Given the description of an element on the screen output the (x, y) to click on. 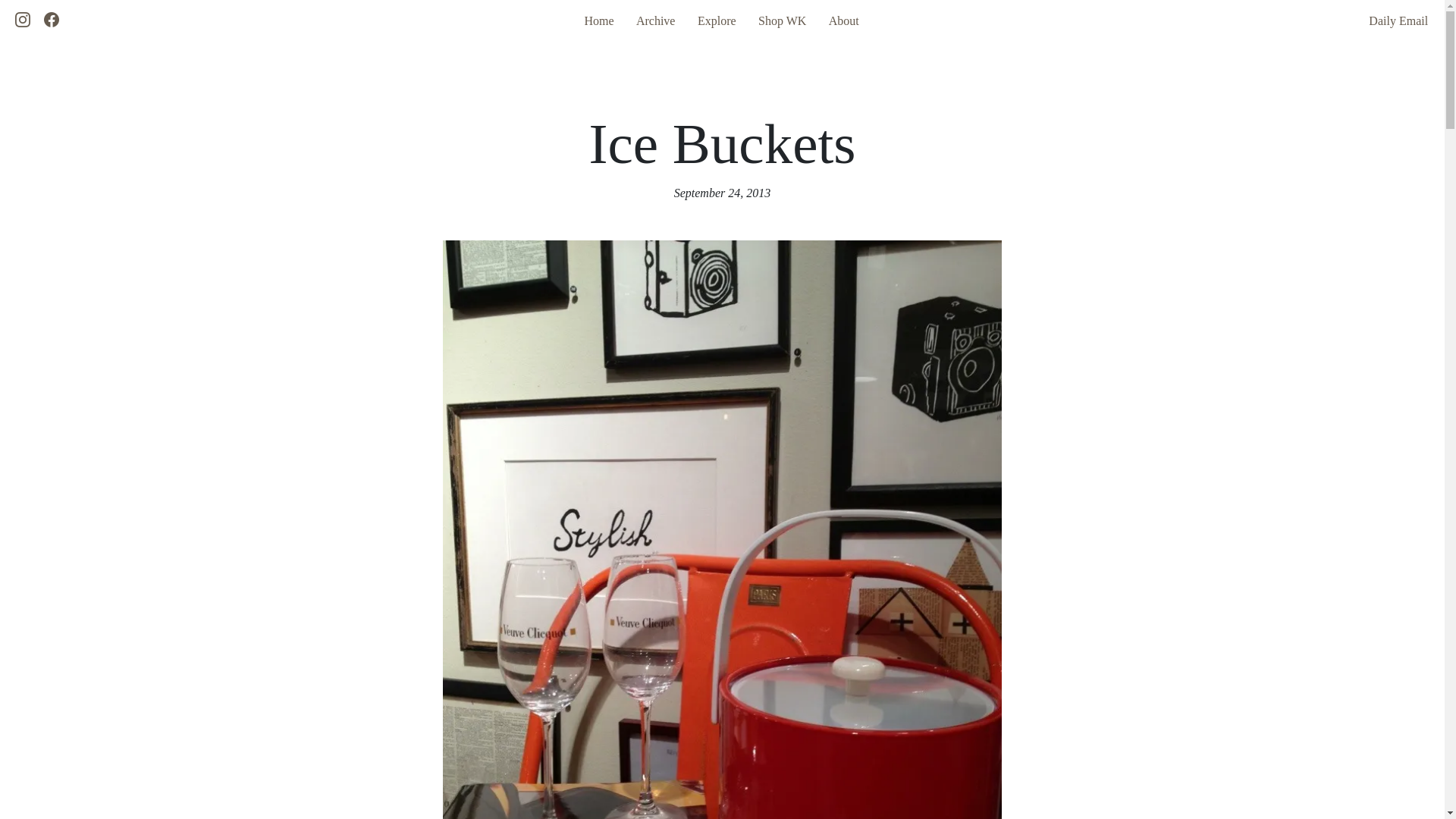
Explore (716, 20)
Archive (655, 20)
About (843, 20)
Daily Email (1390, 19)
Shop WK (782, 20)
Home (597, 20)
